Given the description of an element on the screen output the (x, y) to click on. 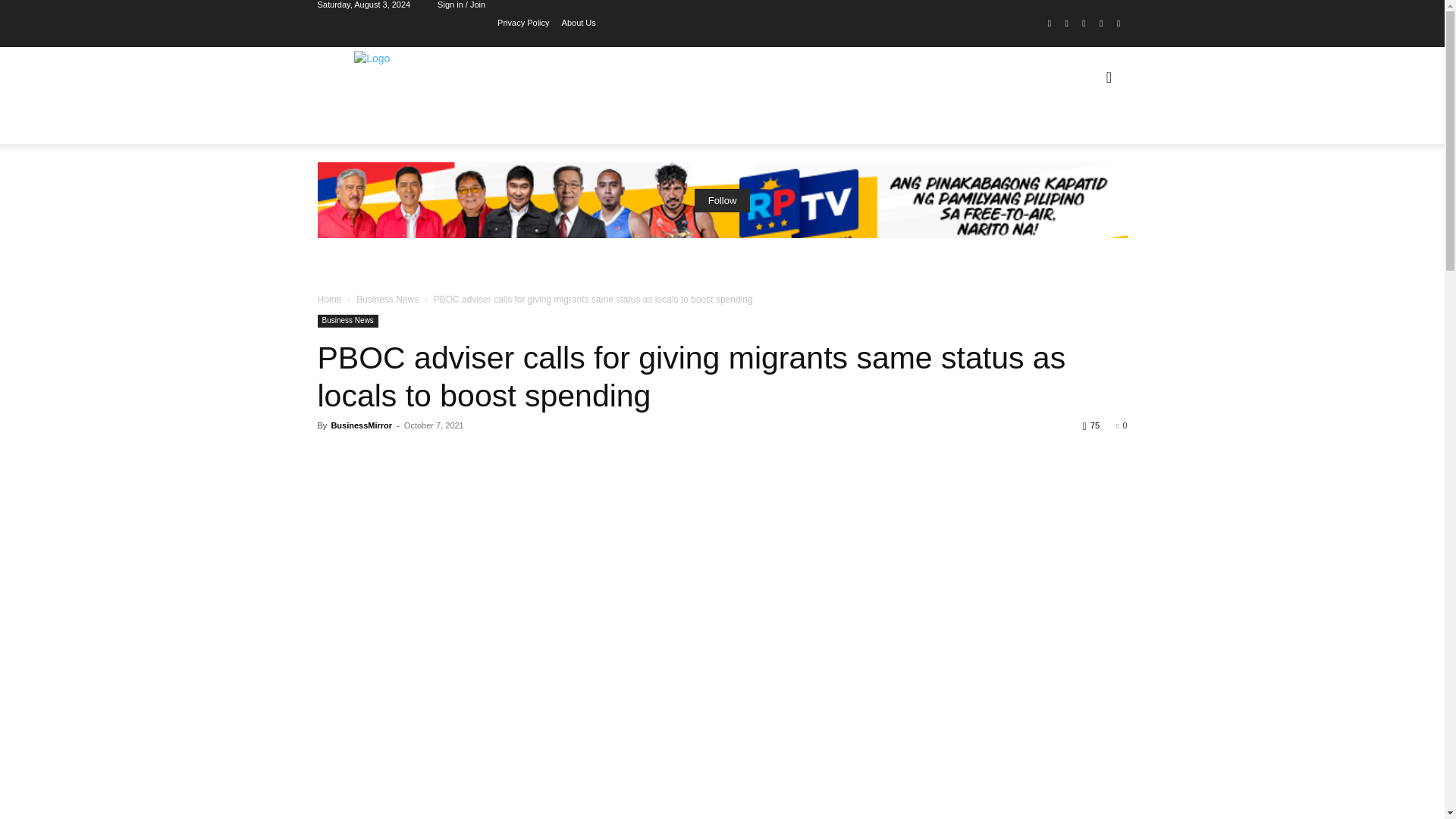
Instagram (1066, 23)
About Us (578, 22)
TikTok (1084, 23)
Facebook (1049, 23)
Youtube (1117, 23)
Privacy Policy (522, 22)
Twitter (1101, 23)
